Given the description of an element on the screen output the (x, y) to click on. 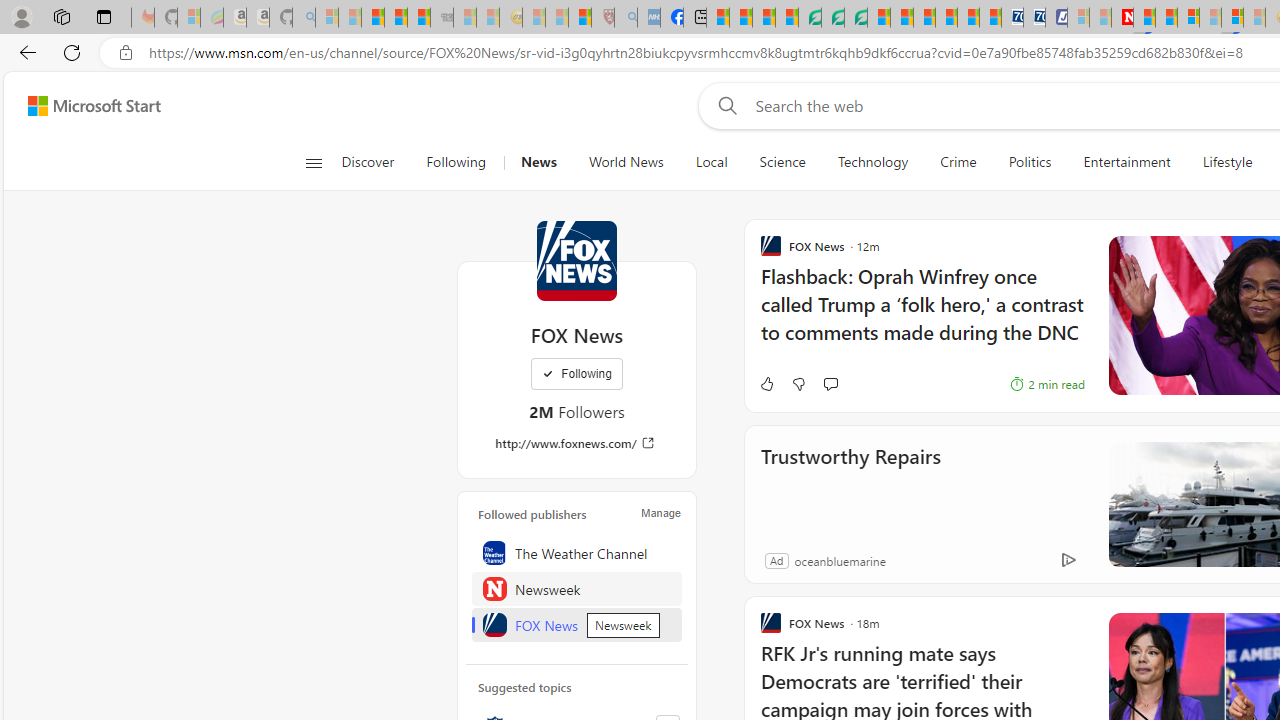
Trustworthy Repairs (850, 484)
Newsweek (577, 588)
FOX News (576, 260)
